Given the description of an element on the screen output the (x, y) to click on. 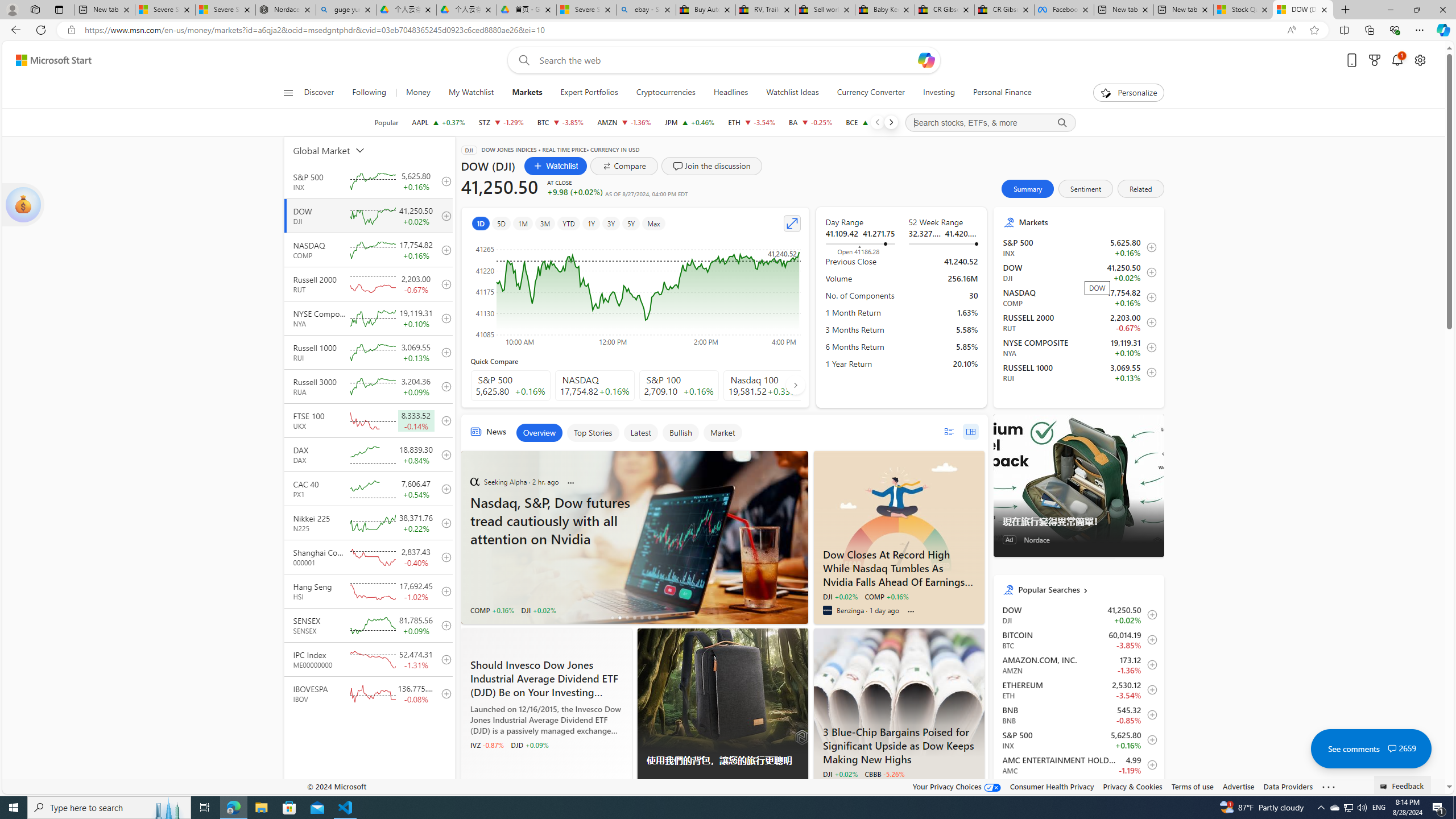
IVZ -0.87% (486, 744)
Terms of use (1192, 786)
3Y (611, 223)
Overview (538, 432)
My Watchlist (470, 92)
Watchlist (556, 166)
Max (653, 223)
